Given the description of an element on the screen output the (x, y) to click on. 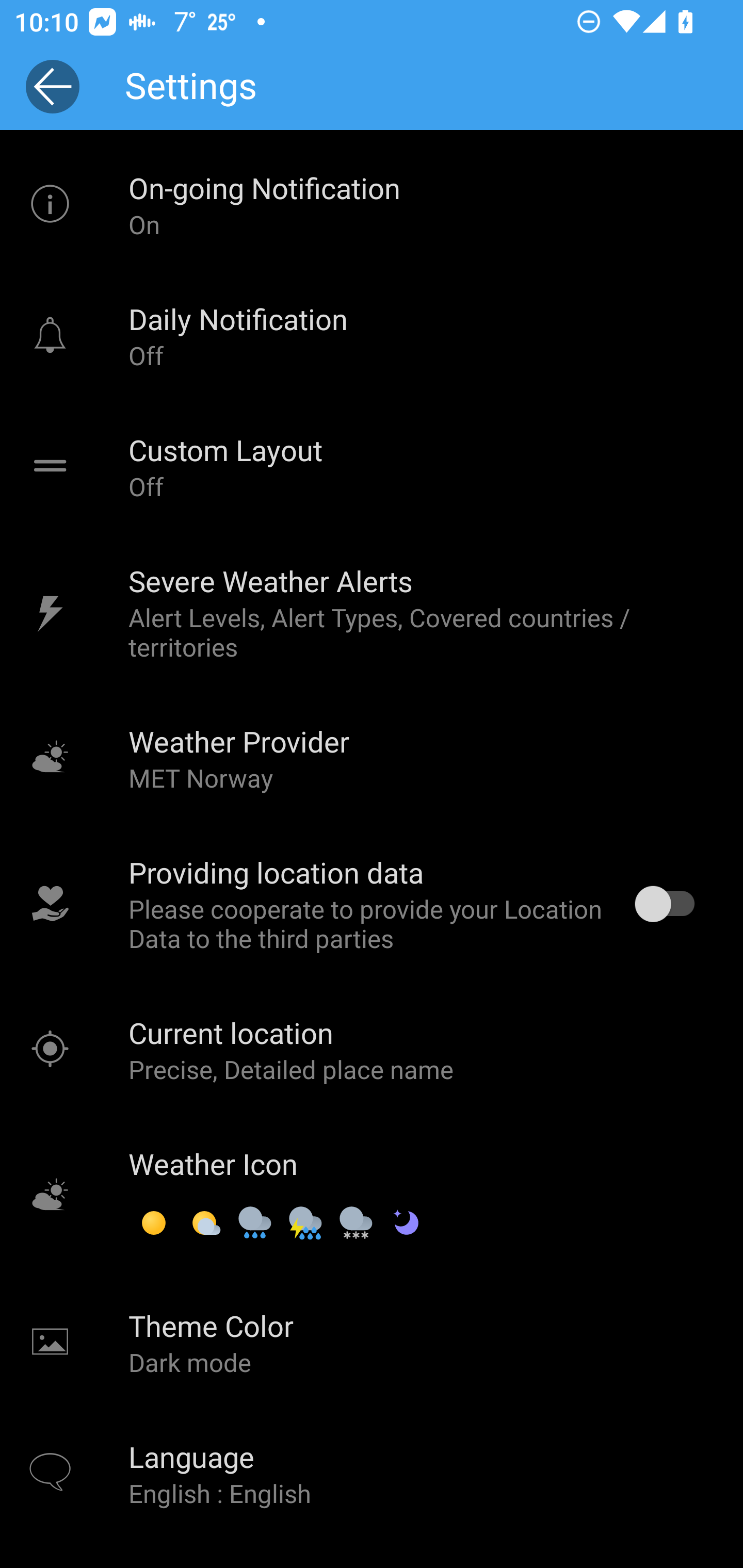
 On-going Notification On (371, 204)
 Daily Notification Off (371, 335)
 Custom Layout Off (371, 466)
 Weather Provider MET Norway (371, 758)
 Current location Precise, Detailed place name (371, 1049)
 Weather Icon (371, 1195)
 Theme Color Dark mode (371, 1342)
 Language English : English (371, 1473)
